Given the description of an element on the screen output the (x, y) to click on. 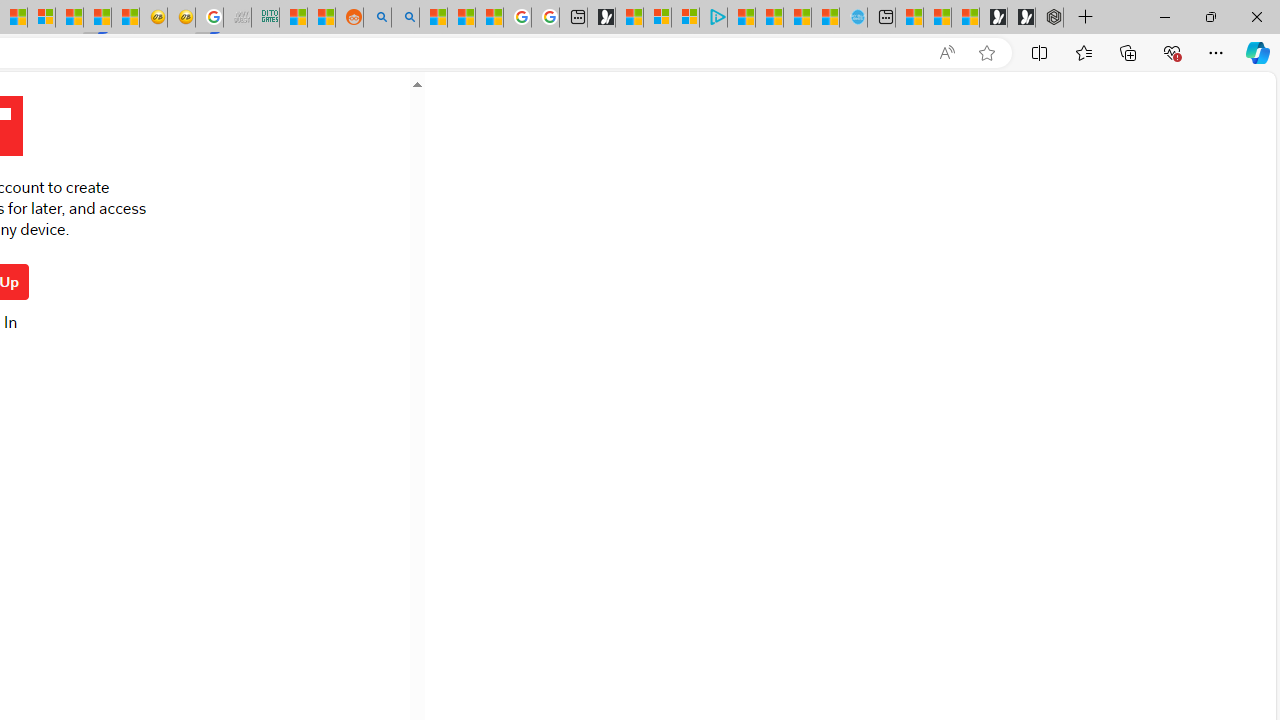
Play Free Online Games | Games from Microsoft Start (1021, 17)
Utah sues federal government - Search (404, 17)
MSNBC - MSN (293, 17)
Home | Sky Blue Bikes - Sky Blue Bikes (852, 17)
Microsoft account | Privacy (685, 17)
